Given the description of an element on the screen output the (x, y) to click on. 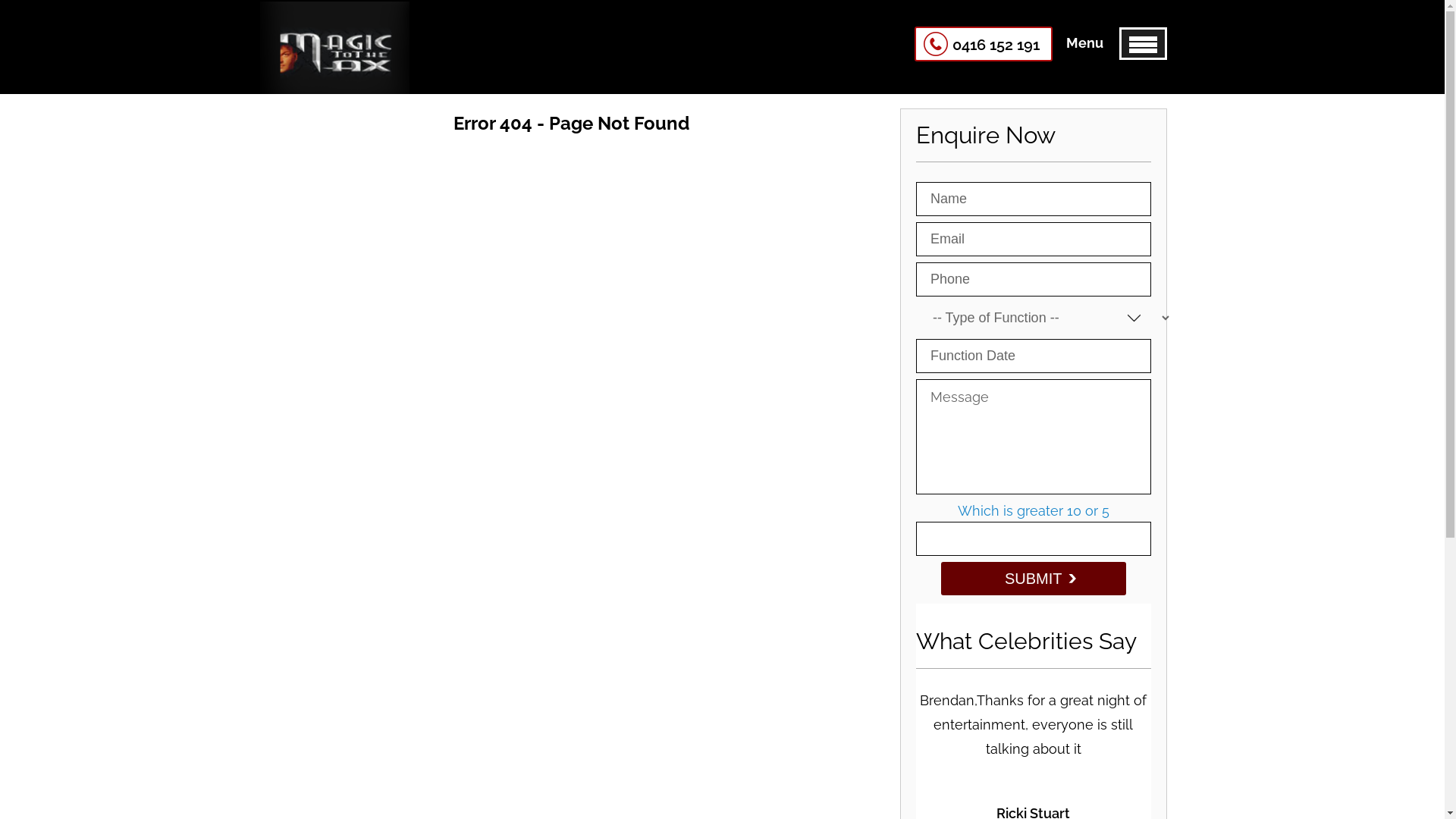
Magician Sydney Element type: hover (333, 75)
SUBMIT Element type: text (1033, 578)
What Celebrities Say Element type: text (1026, 640)
0416 152 191 Element type: text (983, 43)
Magician Sydney Element type: hover (333, 47)
